Given the description of an element on the screen output the (x, y) to click on. 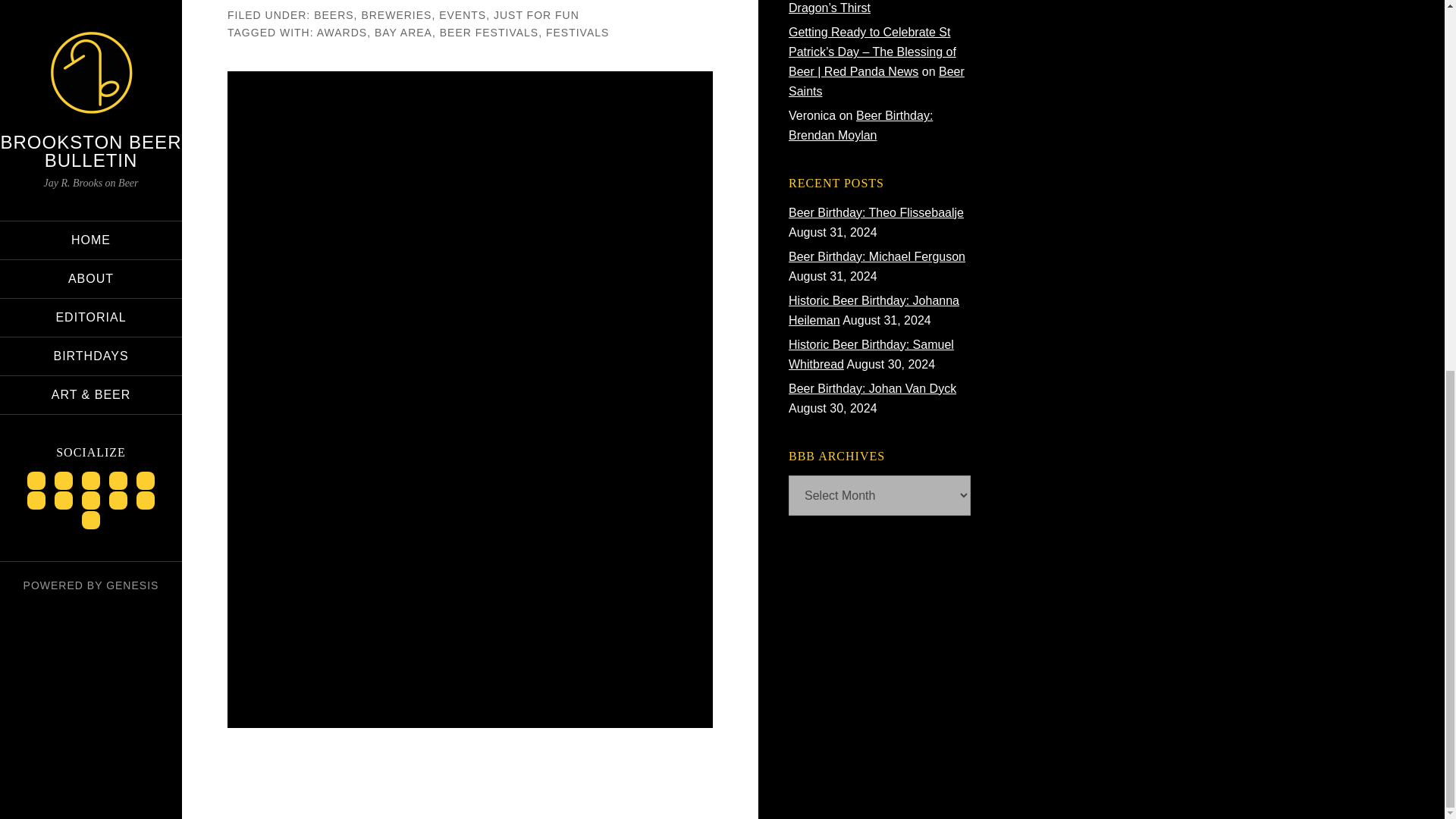
BREWERIES (395, 15)
AWARDS (341, 31)
BEERS (333, 15)
EVENTS (462, 15)
JUST FOR FUN (536, 15)
BAY AREA (403, 31)
FESTIVALS (577, 31)
BEER FESTIVALS (488, 31)
